Given the description of an element on the screen output the (x, y) to click on. 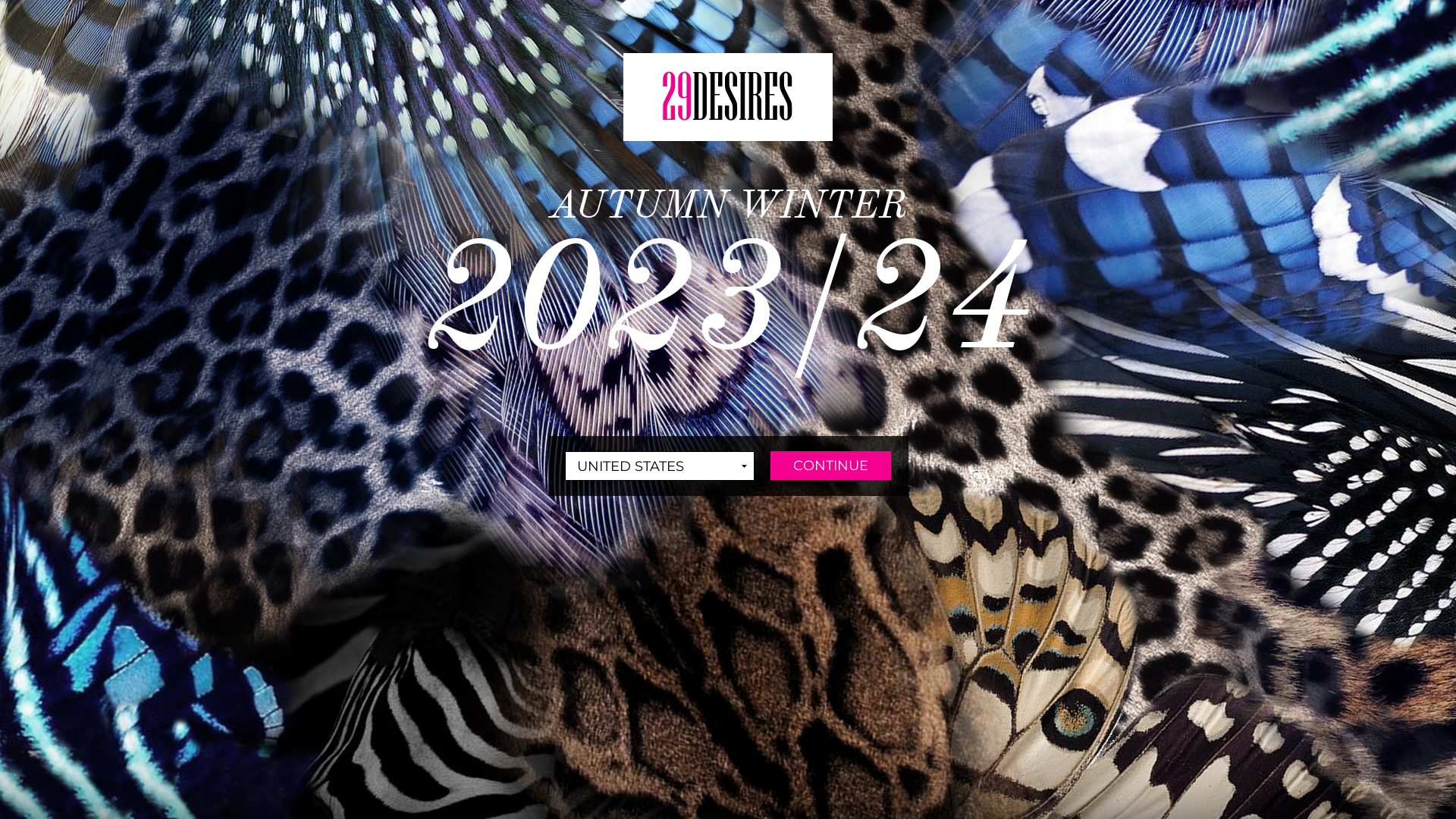
CONTINUE Element type: text (830, 465)
